Given the description of an element on the screen output the (x, y) to click on. 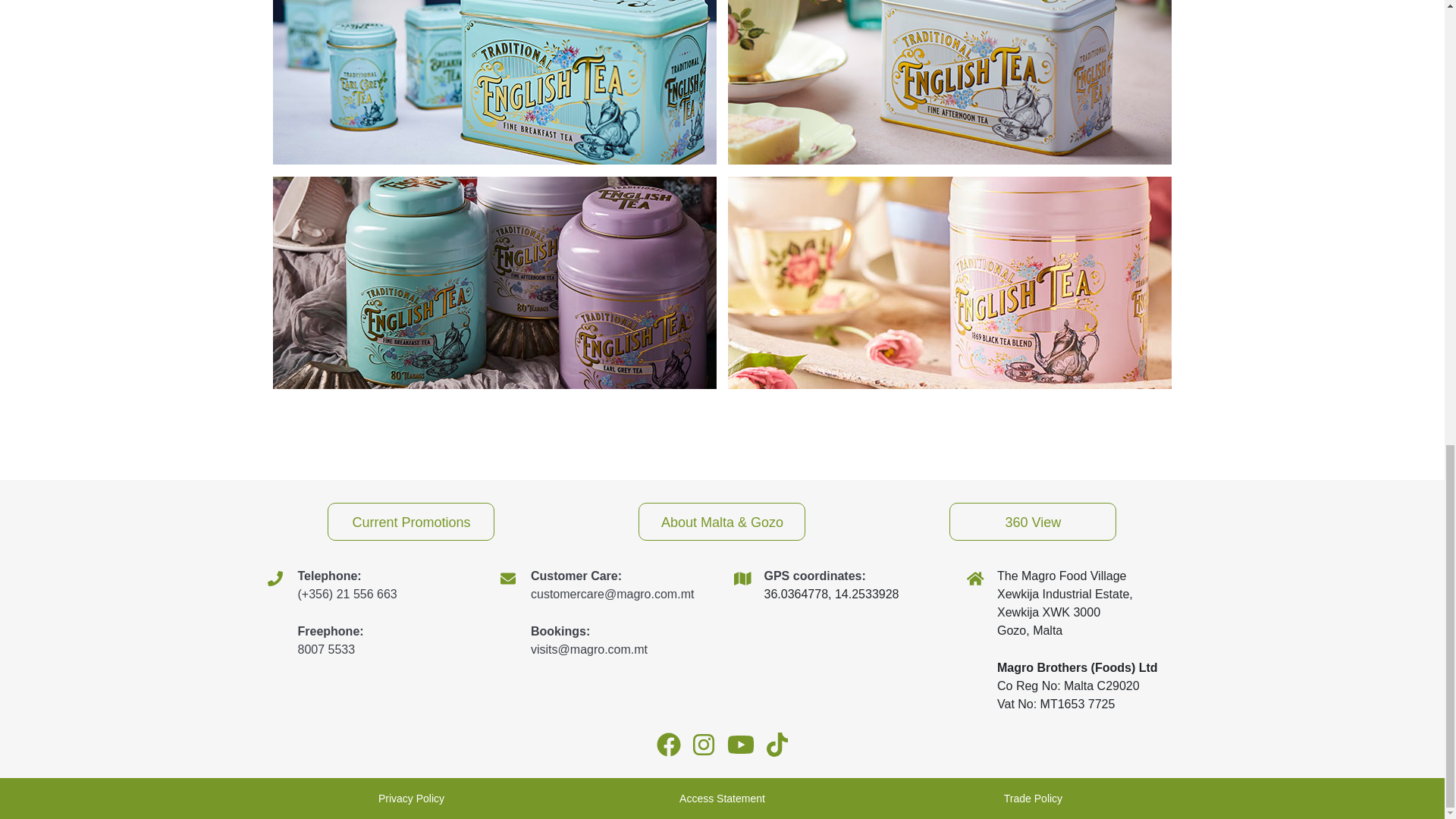
Access Statement (722, 798)
Trade Policy (1033, 798)
Current Promotions (411, 521)
8007 5533 (326, 649)
360 View (1032, 521)
Privacy Policy (411, 798)
